Given the description of an element on the screen output the (x, y) to click on. 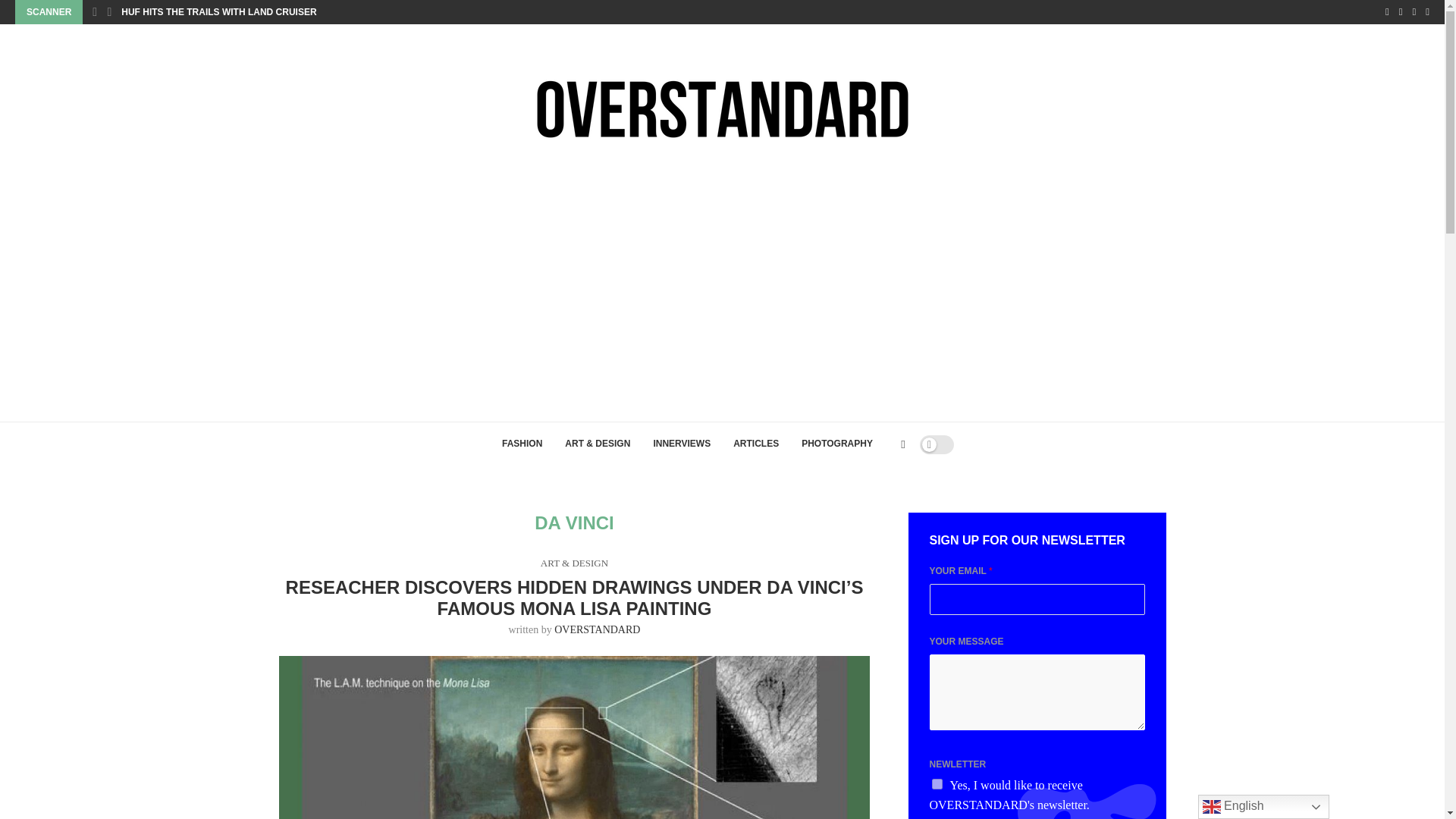
INNERVIEWS (682, 443)
FASHION (521, 443)
Yes, I would like to receive OVERSTANDARD's newsletter. (936, 783)
ARTICLES (756, 443)
HUF HITS THE TRAILS WITH LAND CRUISER (217, 12)
PHOTOGRAPHY (836, 443)
OVERSTANDARD (597, 629)
